Given the description of an element on the screen output the (x, y) to click on. 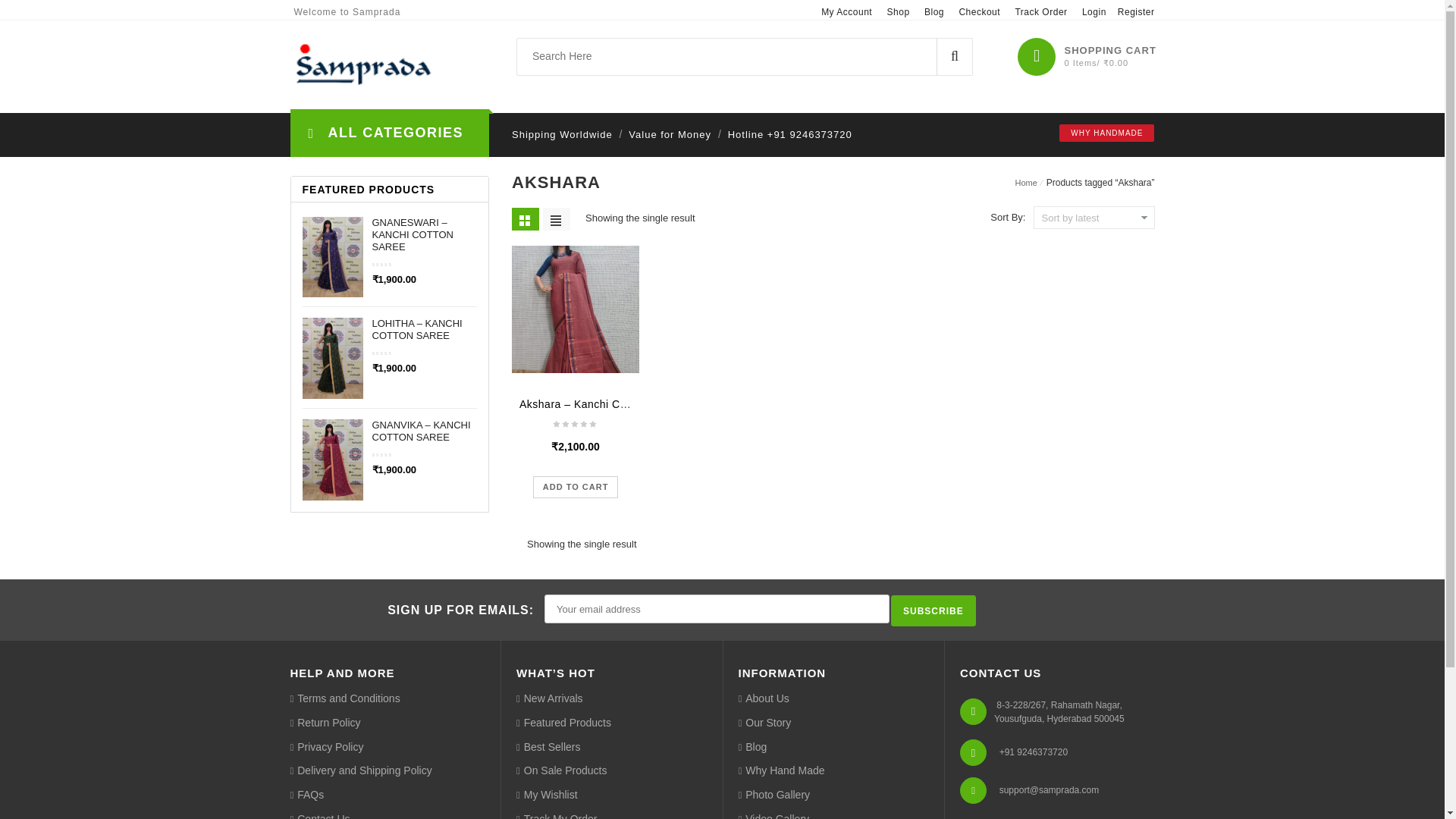
Delivery and Shipping Policy (359, 770)
My Wishlist (547, 795)
Track My Order (556, 815)
Terms and Conditions (343, 699)
My Account (846, 11)
Featured Products (563, 723)
List (556, 219)
Login (1093, 11)
FAQs (306, 795)
Shop (898, 11)
